Given the description of an element on the screen output the (x, y) to click on. 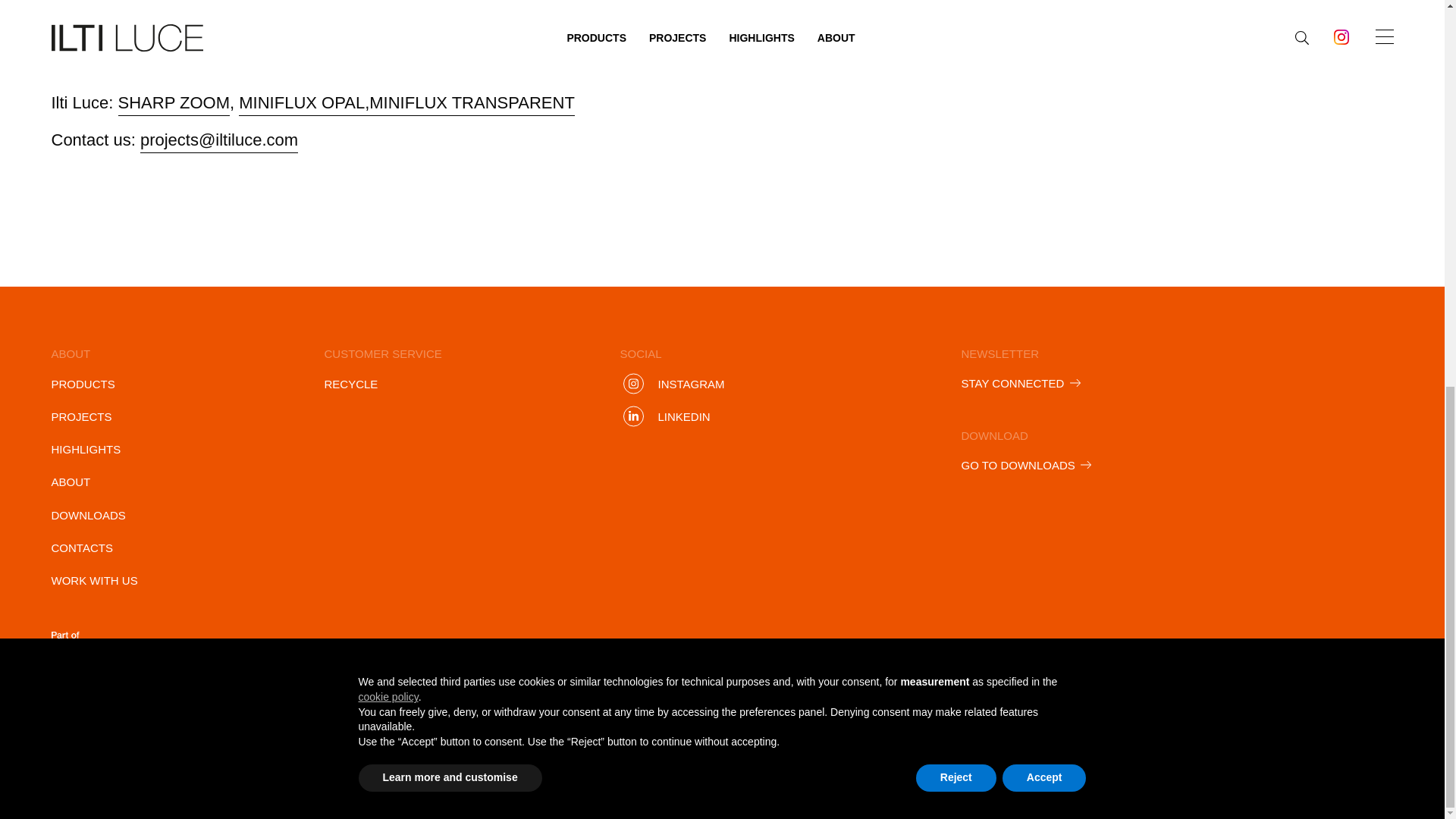
STAY CONNECTED (1020, 382)
PRODUCTS (82, 383)
MINIFLUX OPAL, (303, 103)
RECYCLE (351, 383)
NEMO GROUP (118, 647)
MINIFLUX TRANSPARENT (472, 103)
PROJECTS (81, 415)
GO TO DOWNLOADS (1026, 463)
Privacy Policy  (761, 658)
ABOUT (70, 481)
